Given the description of an element on the screen output the (x, y) to click on. 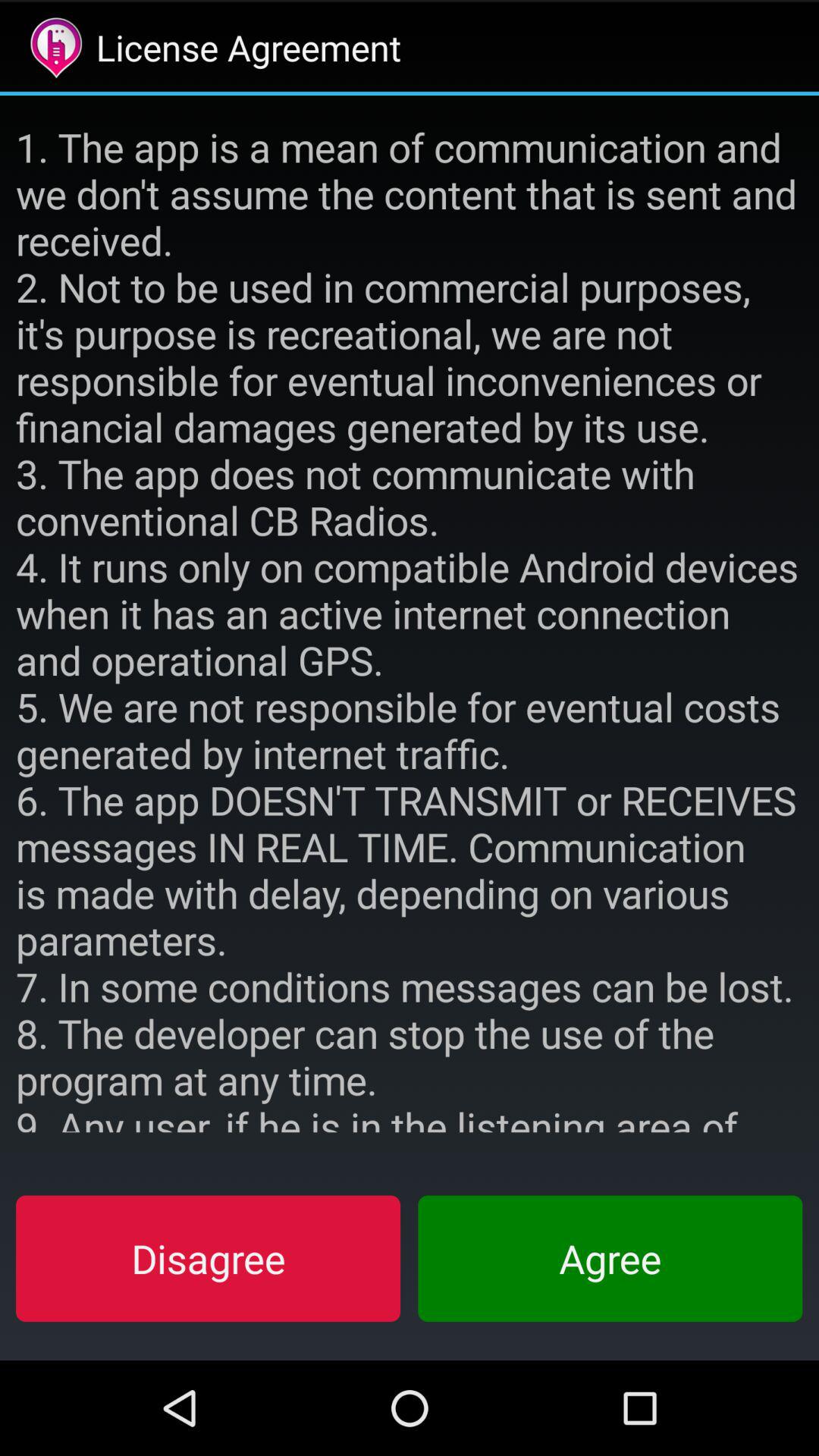
tap the agree button (610, 1258)
